Given the description of an element on the screen output the (x, y) to click on. 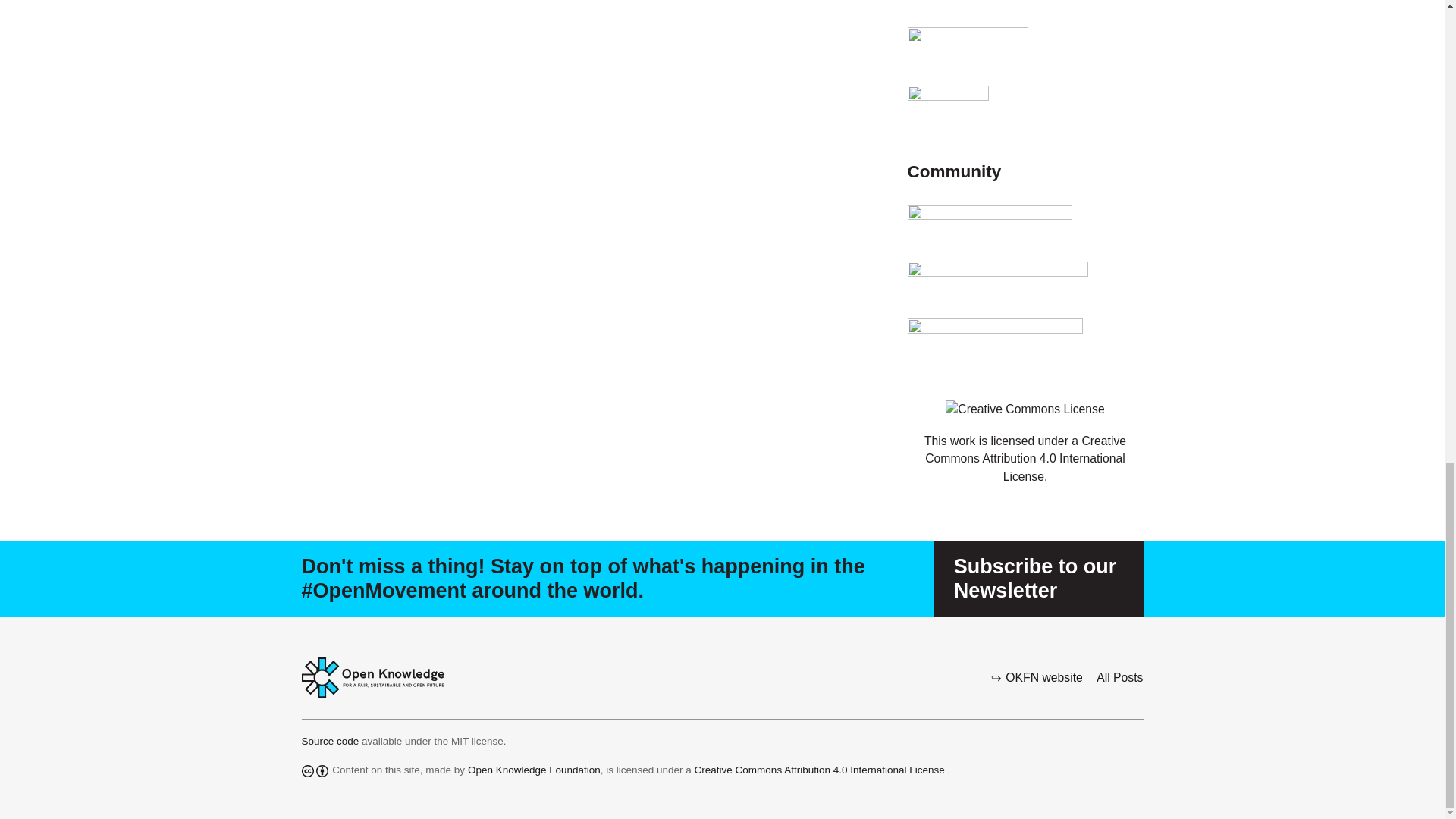
cc (307, 770)
Site source code (331, 740)
by (322, 770)
